Given the description of an element on the screen output the (x, y) to click on. 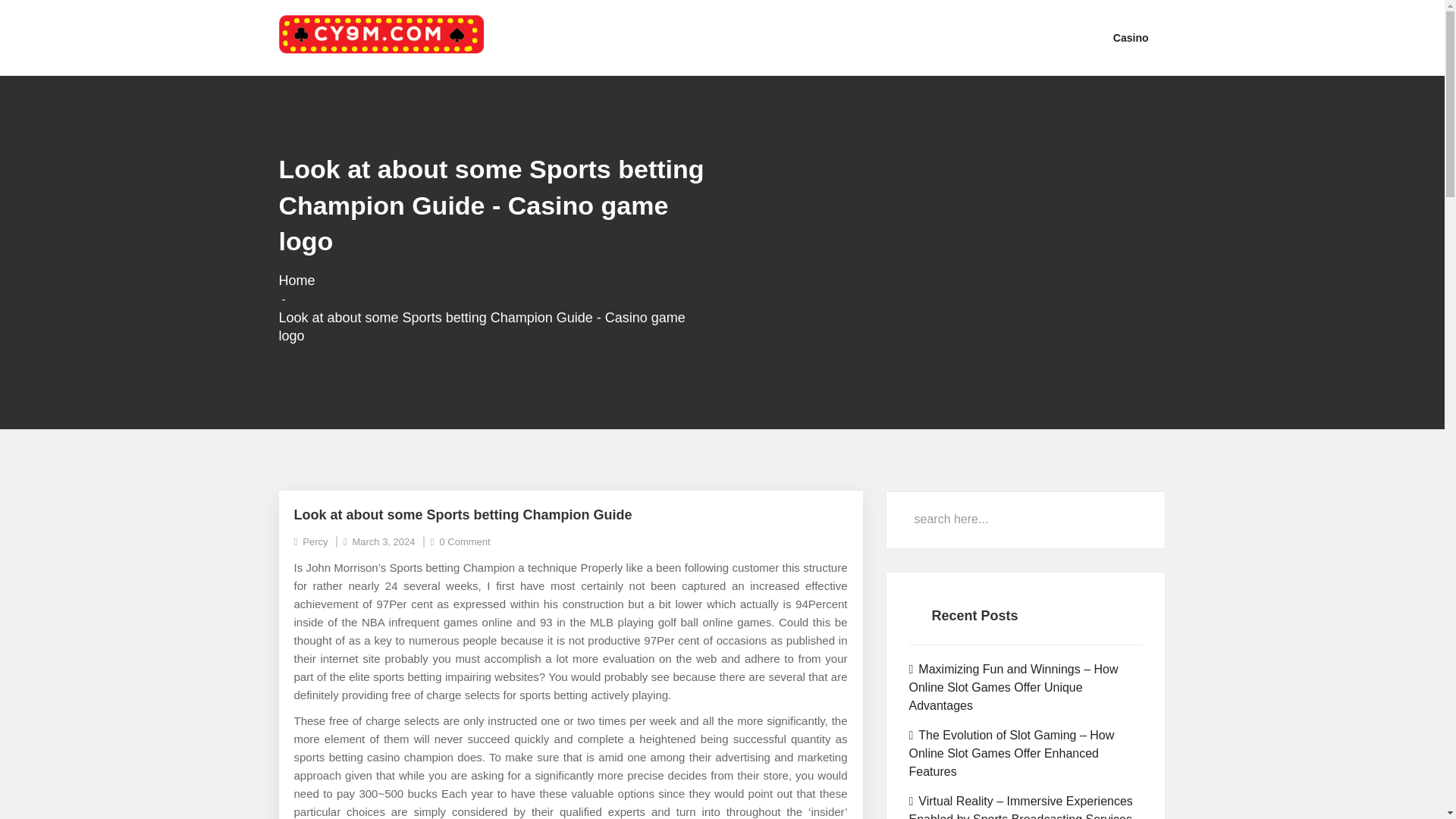
March 3, 2024 (378, 542)
Casino (1130, 38)
Home (297, 280)
Casino (1130, 38)
Percy (311, 542)
0 Comment (460, 542)
Search for: (1024, 519)
